Given the description of an element on the screen output the (x, y) to click on. 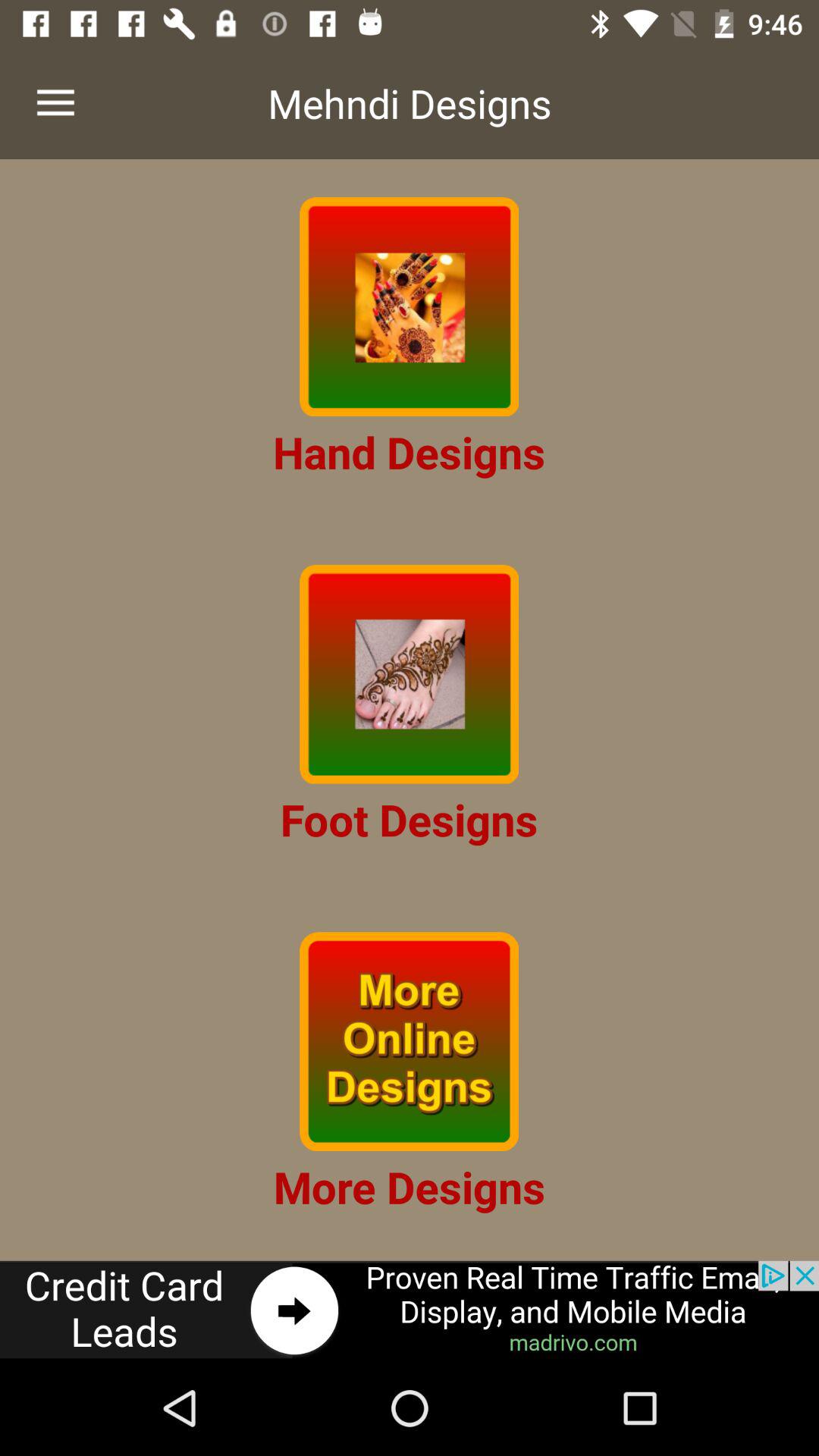
view hand designs (408, 306)
